Given the description of an element on the screen output the (x, y) to click on. 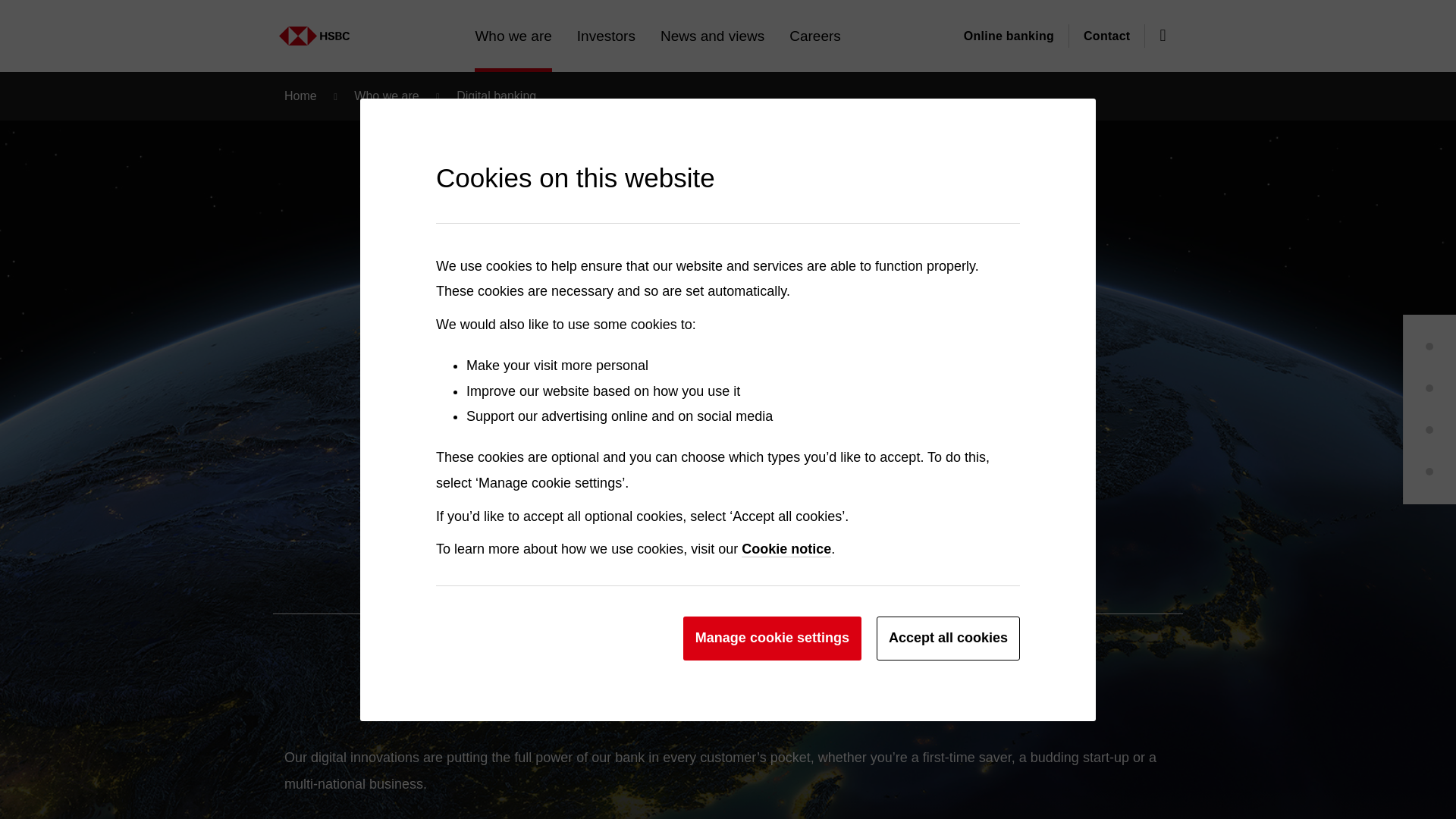
Who we are (155, 28)
Home (280, 28)
